Given the description of an element on the screen output the (x, y) to click on. 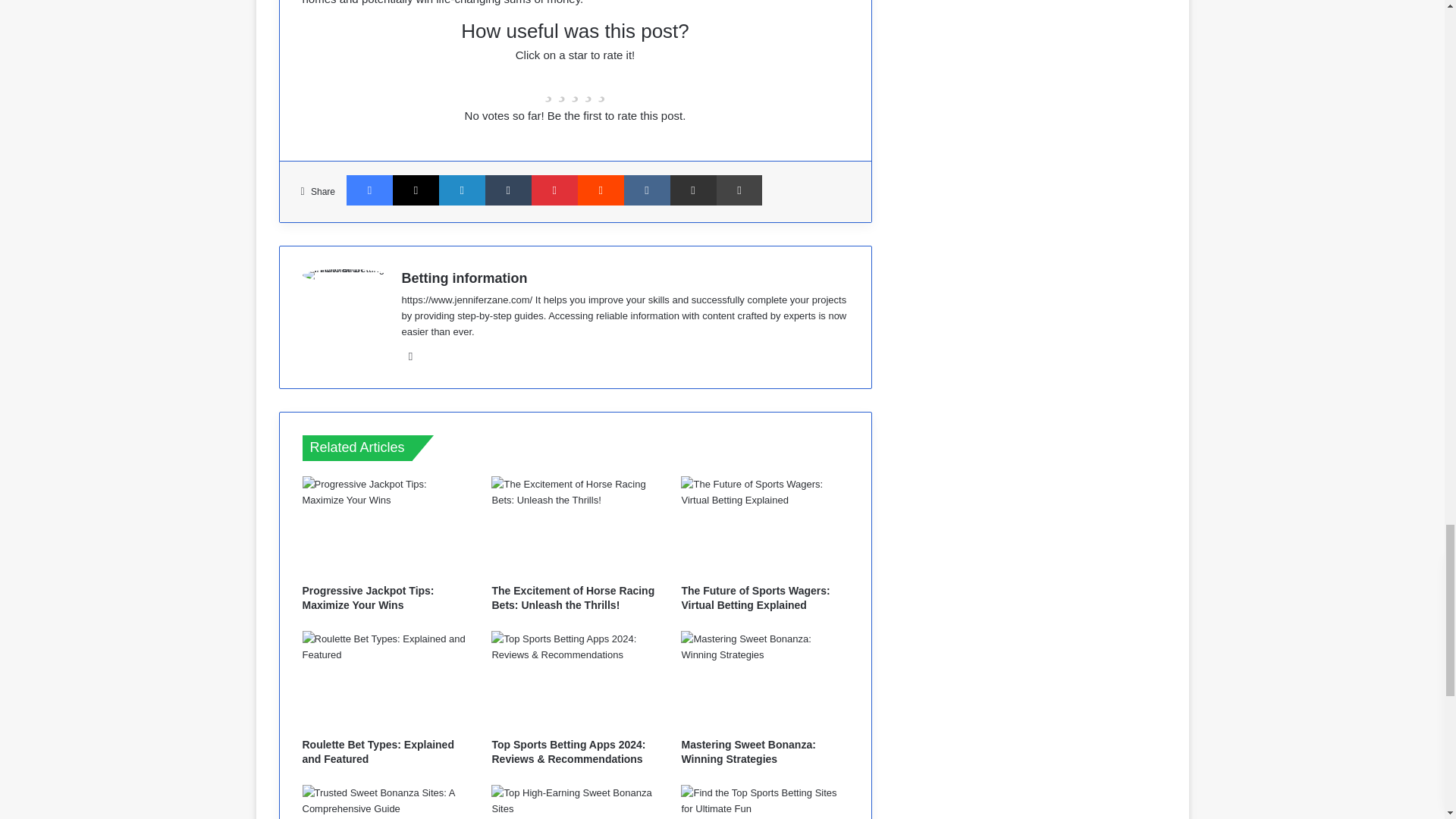
Print (738, 190)
Tumblr (507, 190)
Tumblr (507, 190)
Pinterest (554, 190)
Share via Email (692, 190)
Share via Email (692, 190)
Facebook (369, 190)
X (416, 190)
LinkedIn (461, 190)
Progressive Jackpot Tips: Maximize Your Wins (367, 596)
LinkedIn (461, 190)
Print (738, 190)
Betting information (464, 278)
X (416, 190)
Pinterest (554, 190)
